Given the description of an element on the screen output the (x, y) to click on. 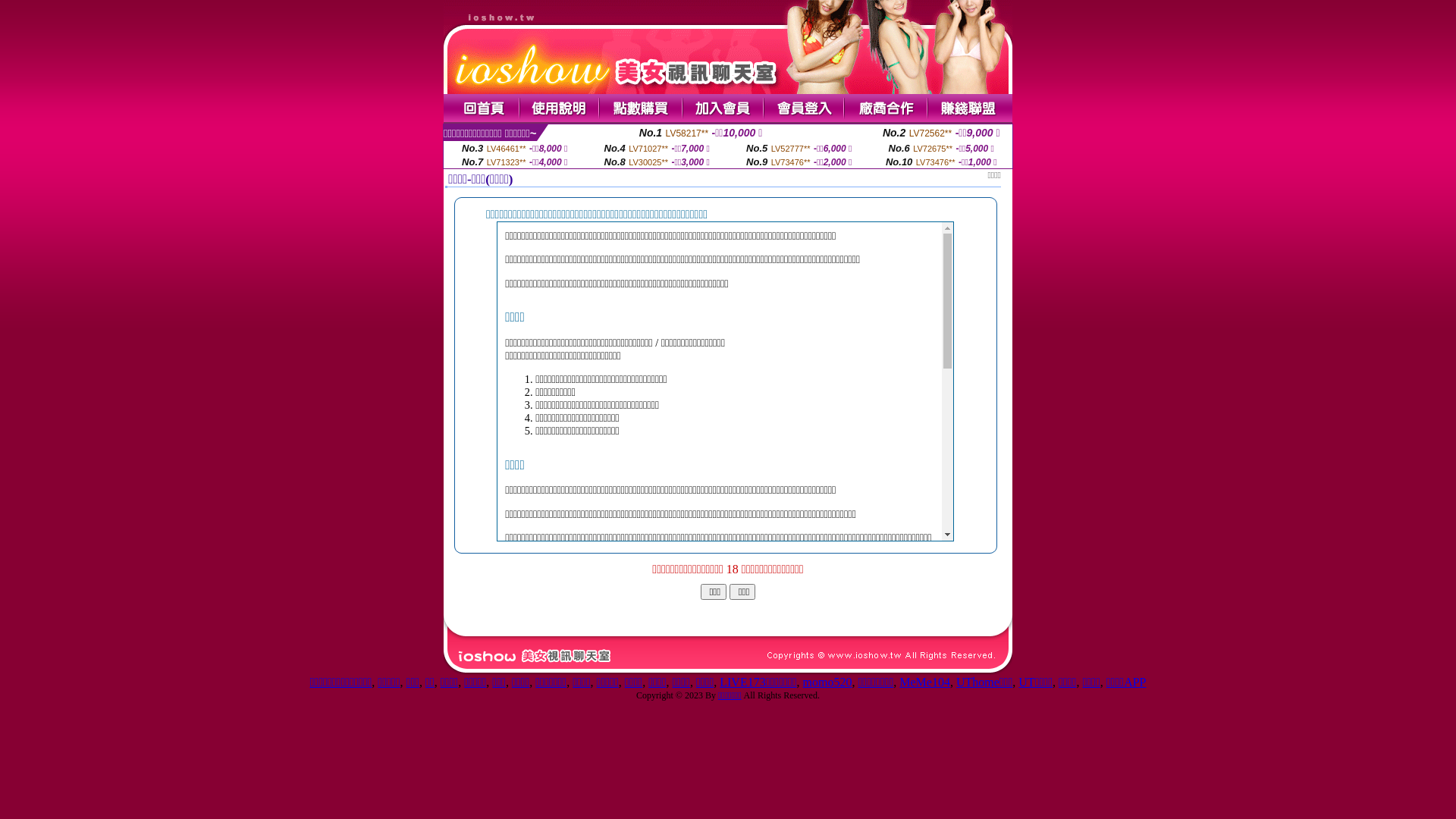
momo520 Element type: text (827, 681)
MeMe104 Element type: text (924, 681)
